Given the description of an element on the screen output the (x, y) to click on. 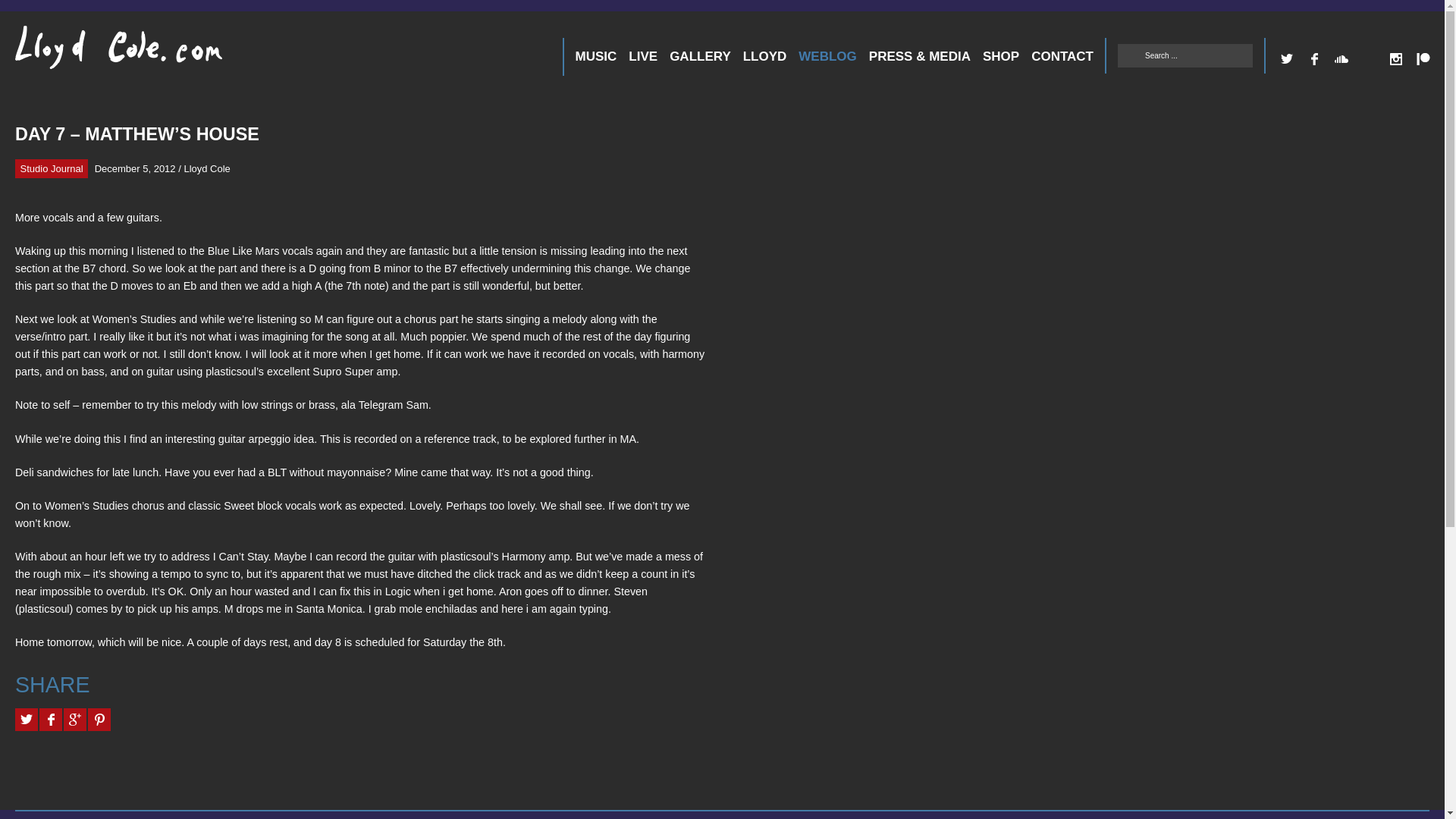
GALLERY (699, 56)
Strava (1368, 58)
Search ... (1185, 55)
Search ... (1185, 55)
SoundCloud (1341, 58)
Search ... (1185, 55)
Twitter (1286, 58)
Instagram (1395, 58)
LLOYD (764, 56)
Instagram (1395, 58)
WEBLOG (827, 56)
MUSIC (596, 56)
LIVE (643, 56)
lloydcole.com (103, 53)
Share on Facebook (50, 719)
